Given the description of an element on the screen output the (x, y) to click on. 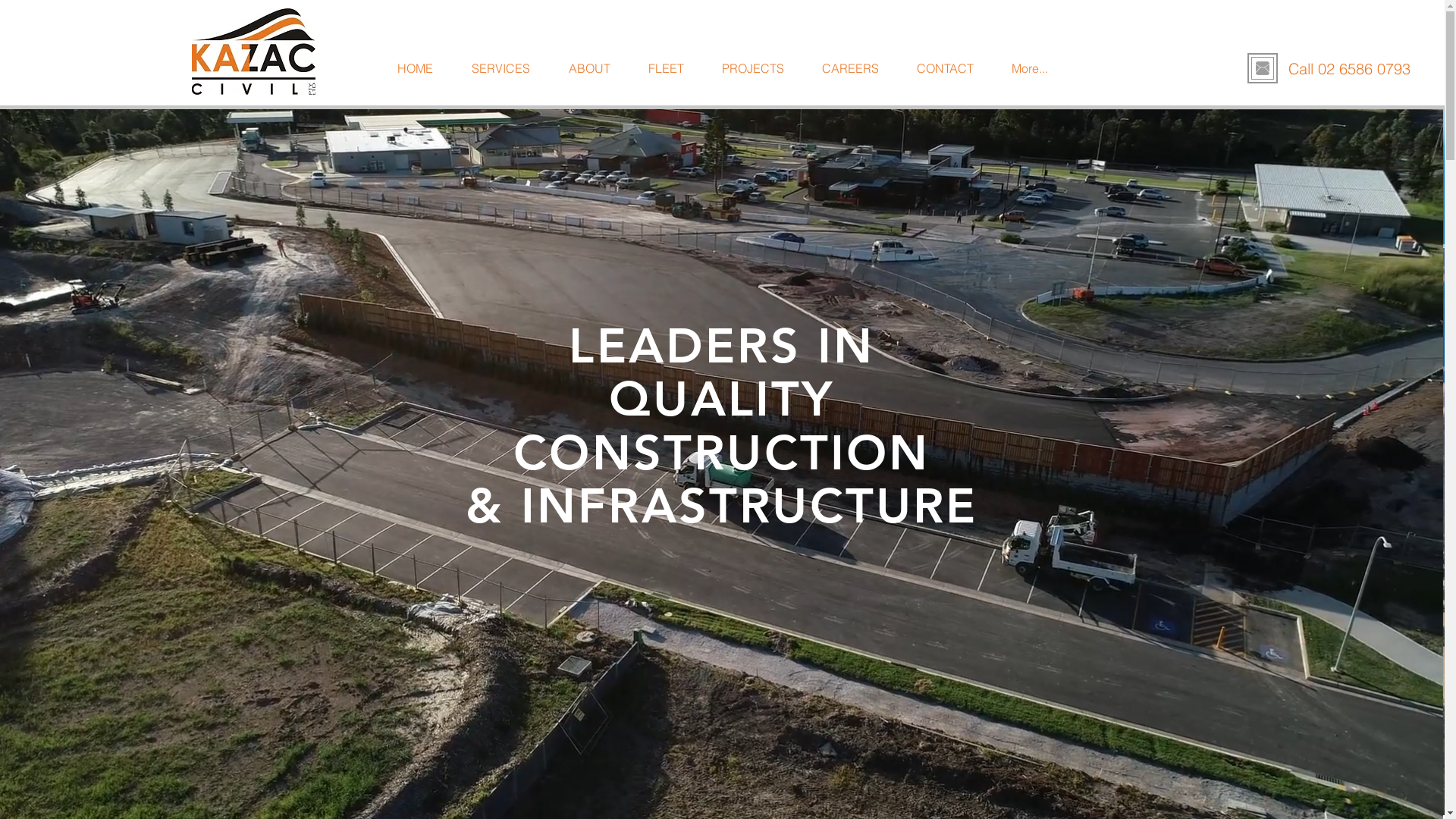
CONTACT Element type: text (944, 68)
HOME Element type: text (414, 68)
CAREERS Element type: text (850, 68)
OFF000 KAZAC Logo.jpg Element type: hover (252, 51)
SERVICES Element type: text (499, 68)
PROJECTS Element type: text (753, 68)
FLEET Element type: text (665, 68)
ABOUT Element type: text (588, 68)
